Given the description of an element on the screen output the (x, y) to click on. 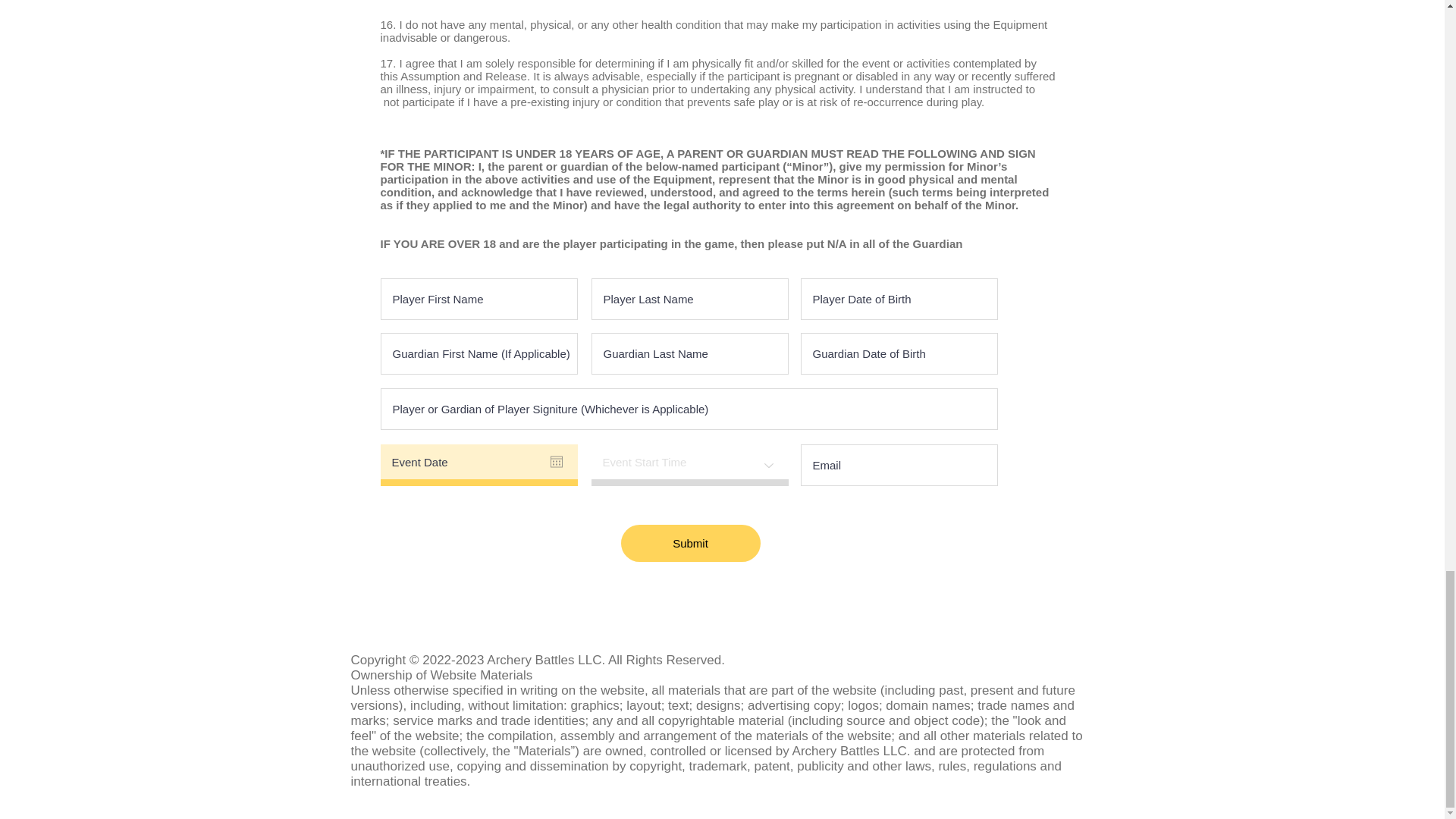
Submit (690, 542)
